Given the description of an element on the screen output the (x, y) to click on. 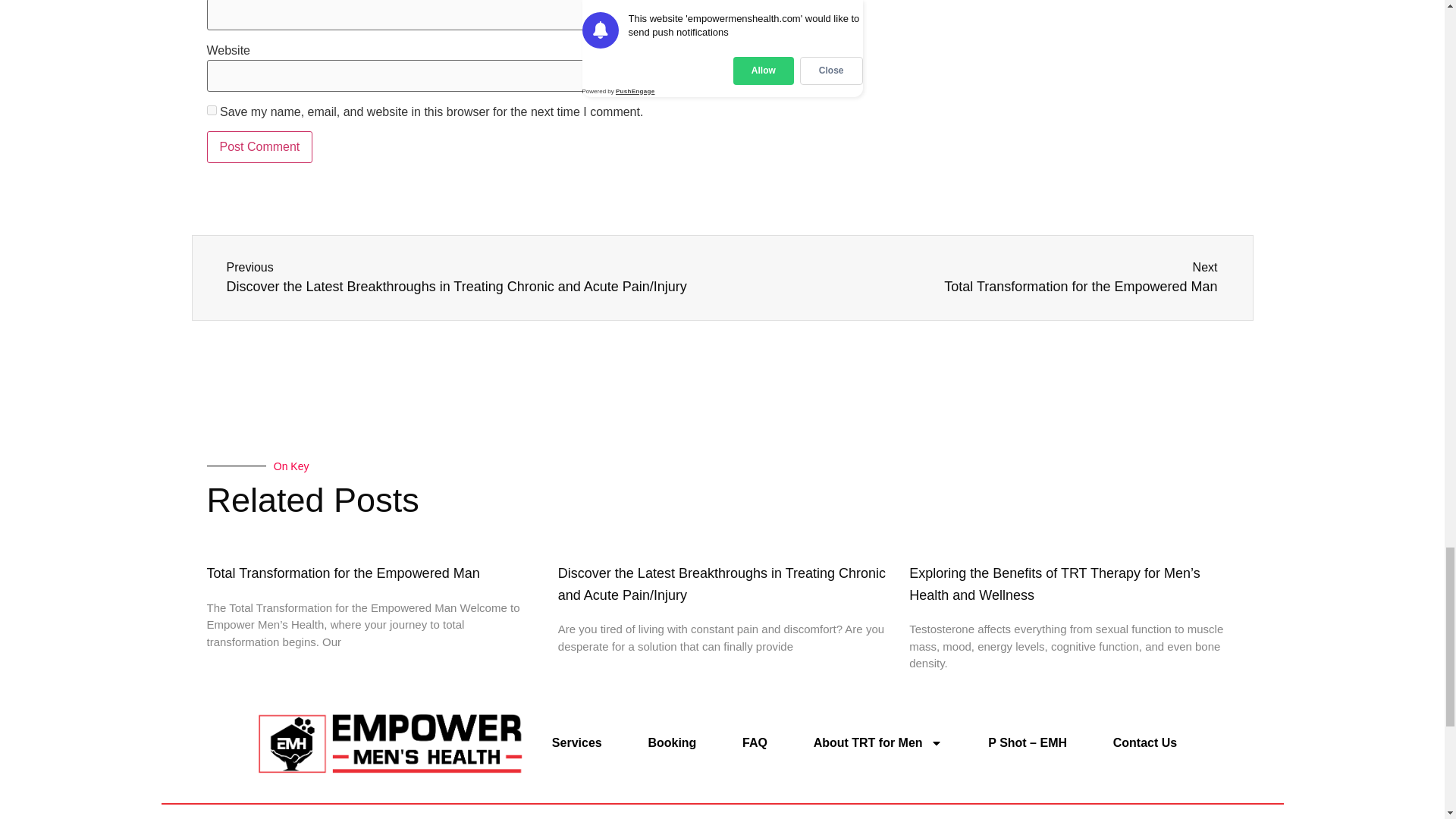
Total Transformation for the Empowered Man (342, 572)
yes (210, 110)
Post Comment (259, 146)
Post Comment (975, 277)
